Given the description of an element on the screen output the (x, y) to click on. 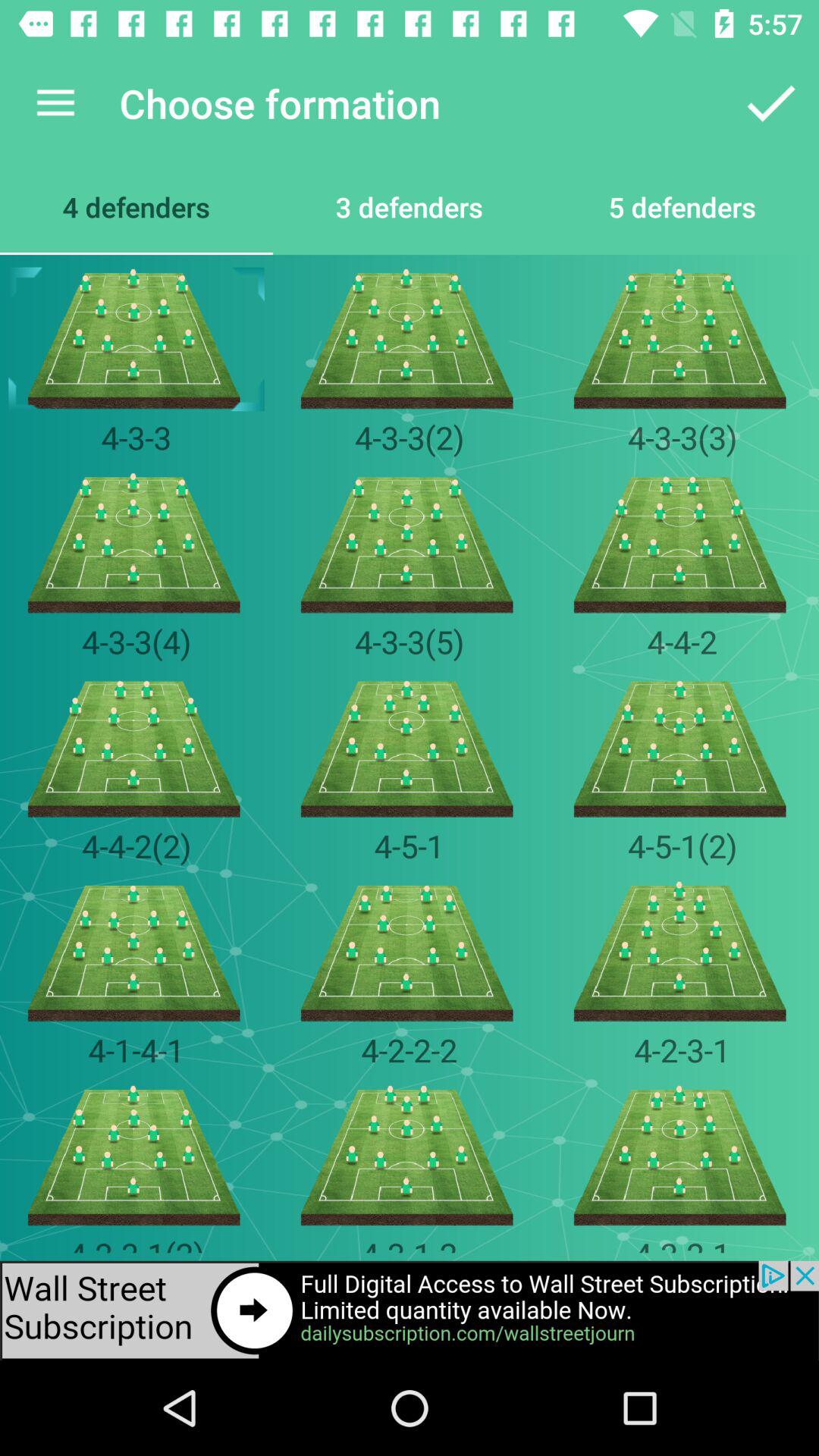
add of the option (409, 1310)
